Given the description of an element on the screen output the (x, y) to click on. 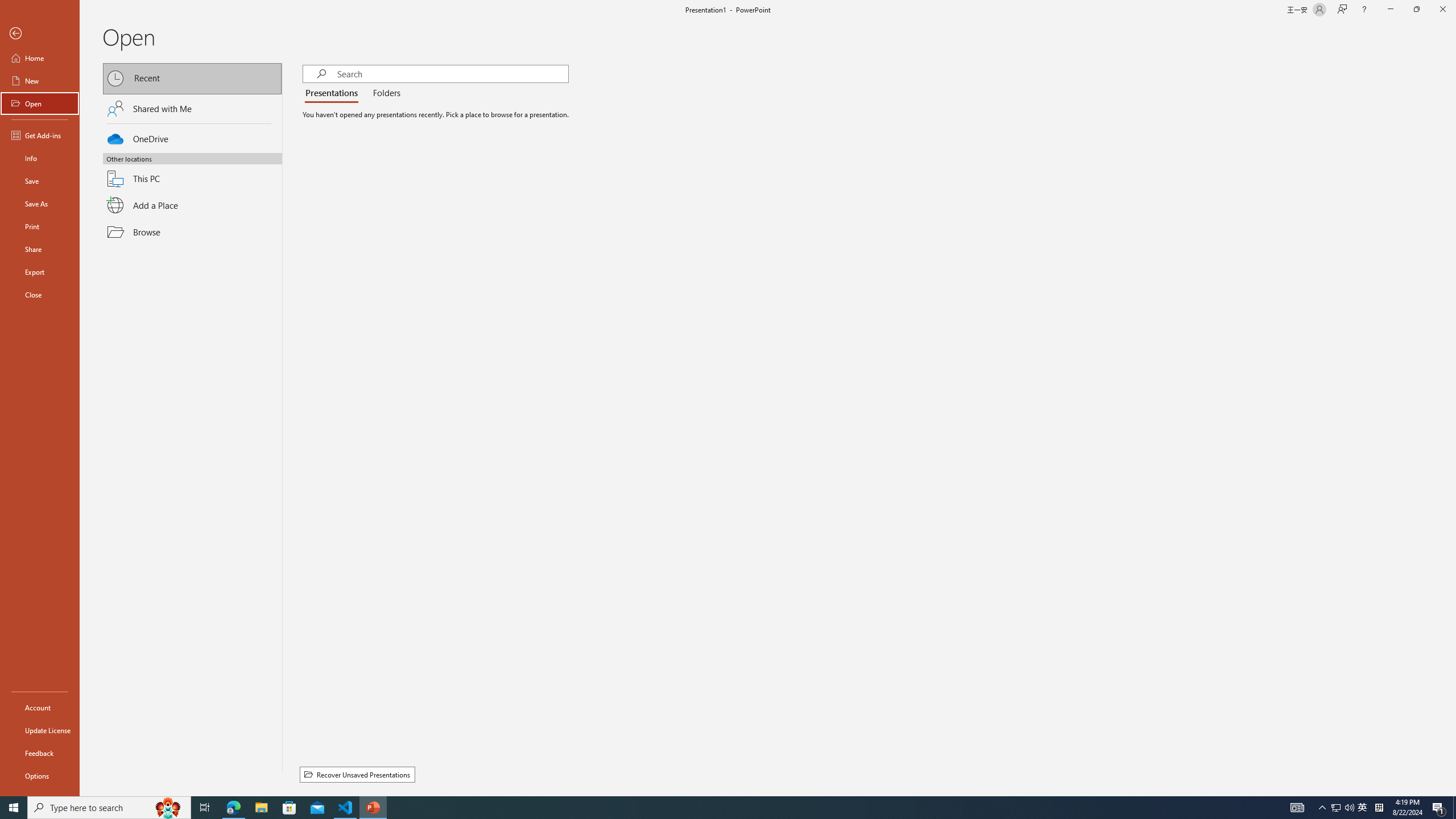
Browse (192, 231)
Info (40, 157)
Folders (384, 93)
Account (40, 707)
Shared with Me (192, 108)
Get Add-ins (40, 134)
Recent (192, 78)
Back (40, 33)
